Given the description of an element on the screen output the (x, y) to click on. 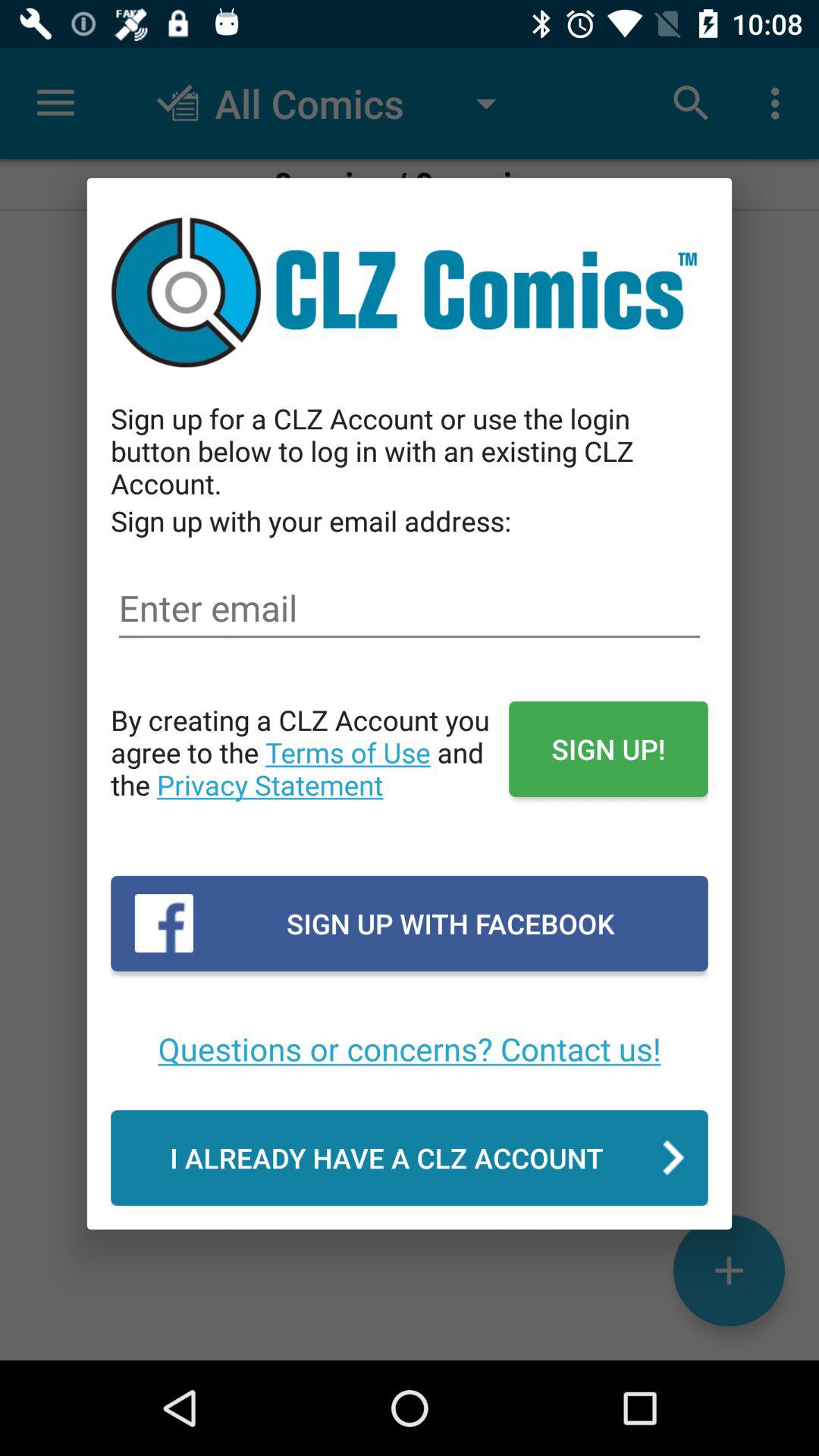
launch the item to the left of sign up! (309, 768)
